Given the description of an element on the screen output the (x, y) to click on. 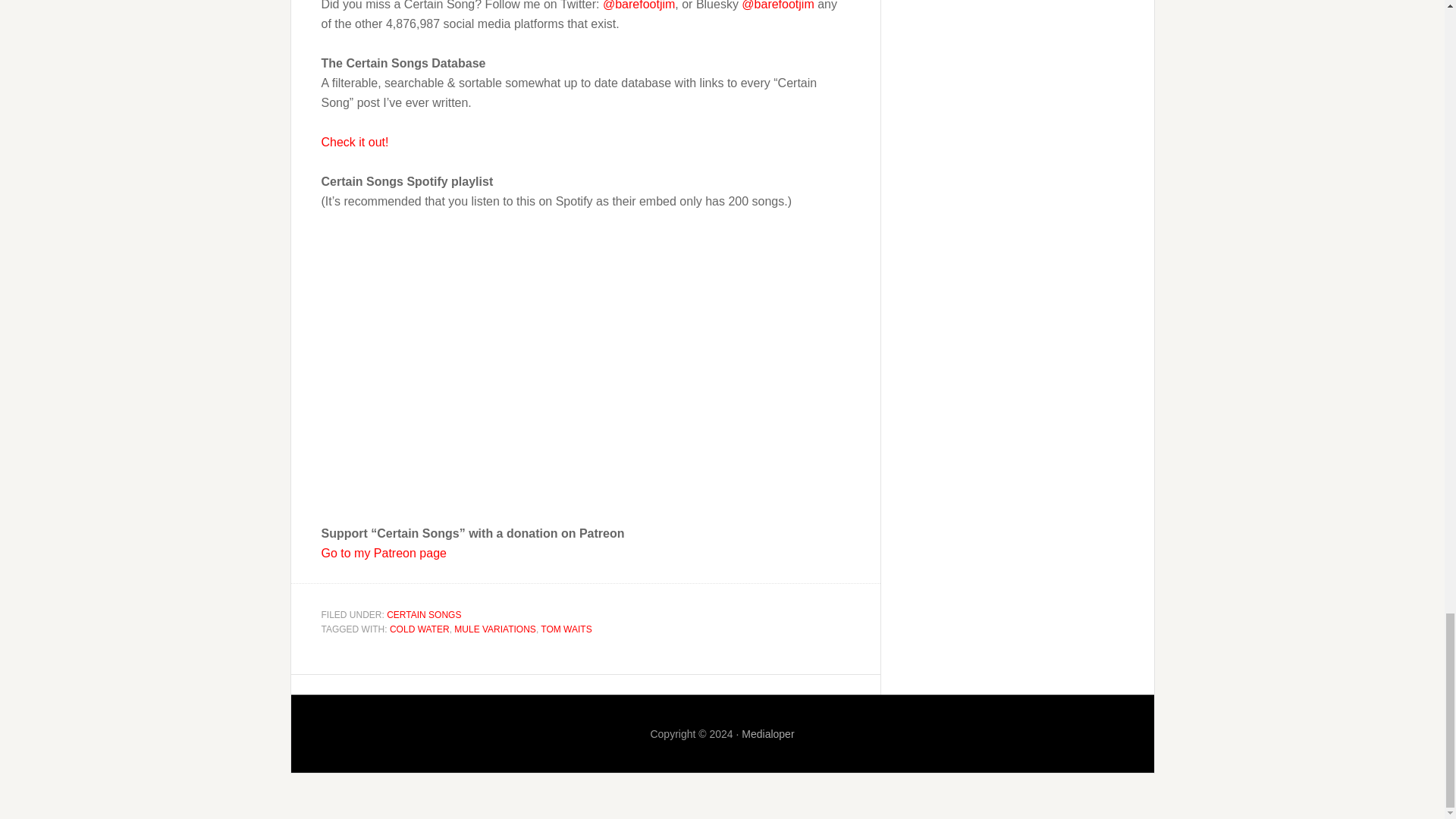
COLD WATER (419, 629)
Medialoper (767, 733)
MULE VARIATIONS (494, 629)
Go to my Patreon page (383, 553)
TOM WAITS (565, 629)
Check it out! (354, 141)
CERTAIN SONGS (424, 614)
